Given the description of an element on the screen output the (x, y) to click on. 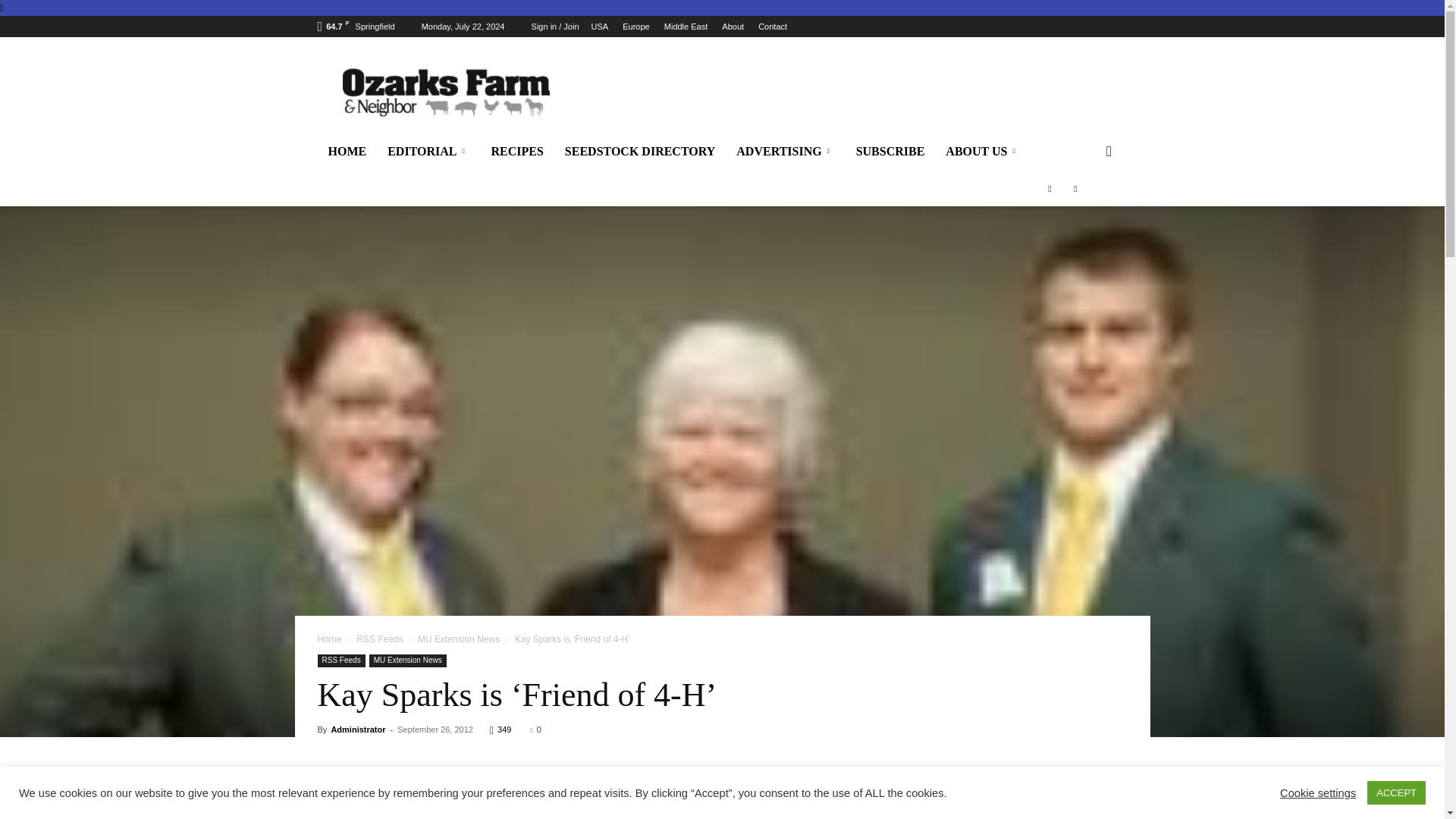
Twitter (457, 809)
topFacebookLike (430, 781)
View all posts in MU Extension News (458, 638)
Facebook (422, 809)
View all posts in RSS Feeds (379, 638)
Search (1099, 817)
USA (599, 26)
